Given the description of an element on the screen output the (x, y) to click on. 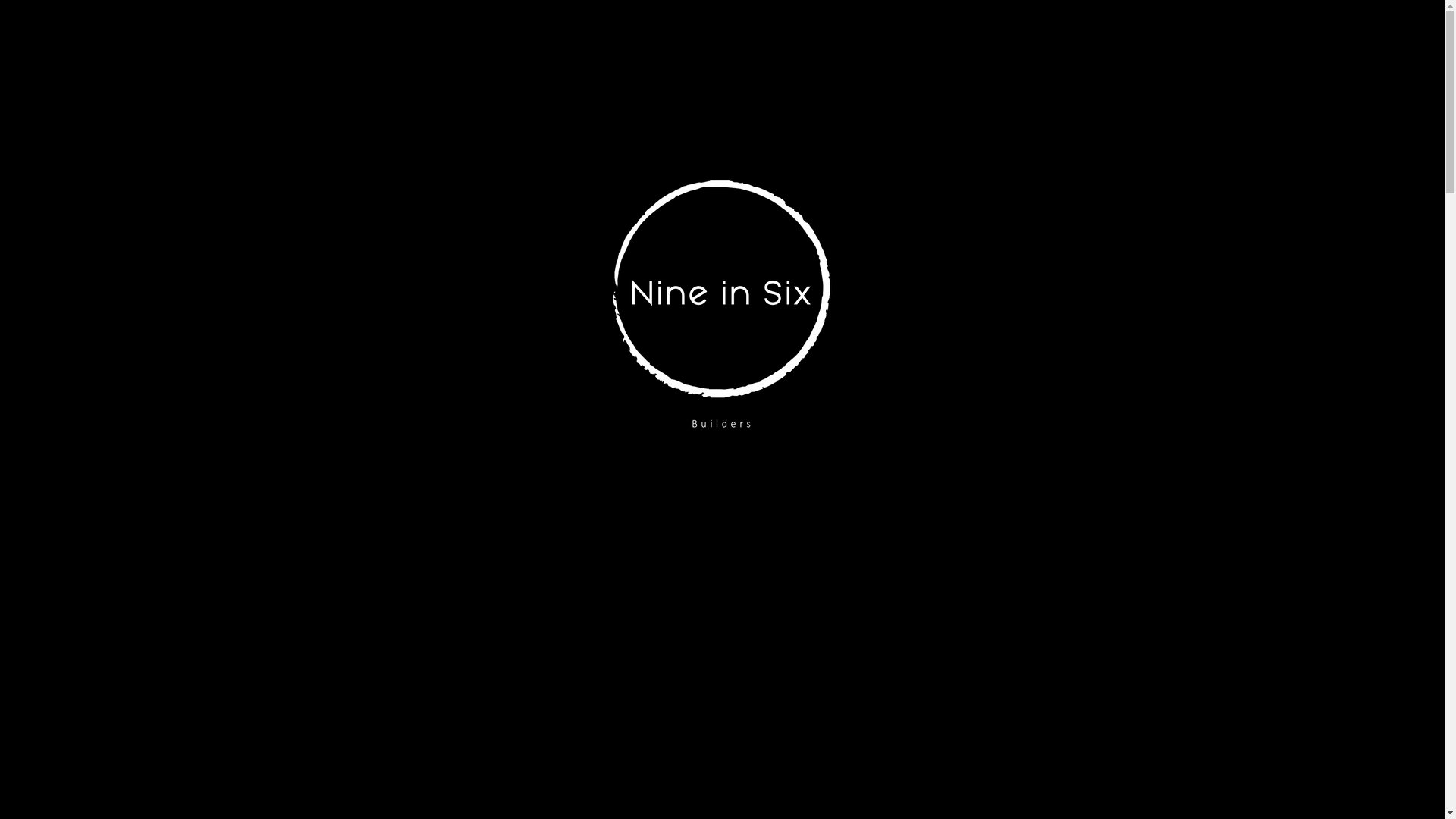
O U R   T E A M Element type: text (1047, 37)
A B O U T Element type: text (969, 37)
C O N T A C T Element type: text (1332, 37)
T E S T I M O N I A L S Element type: text (1234, 37)
P R O J E C T S Element type: text (1135, 37)
